Given the description of an element on the screen output the (x, y) to click on. 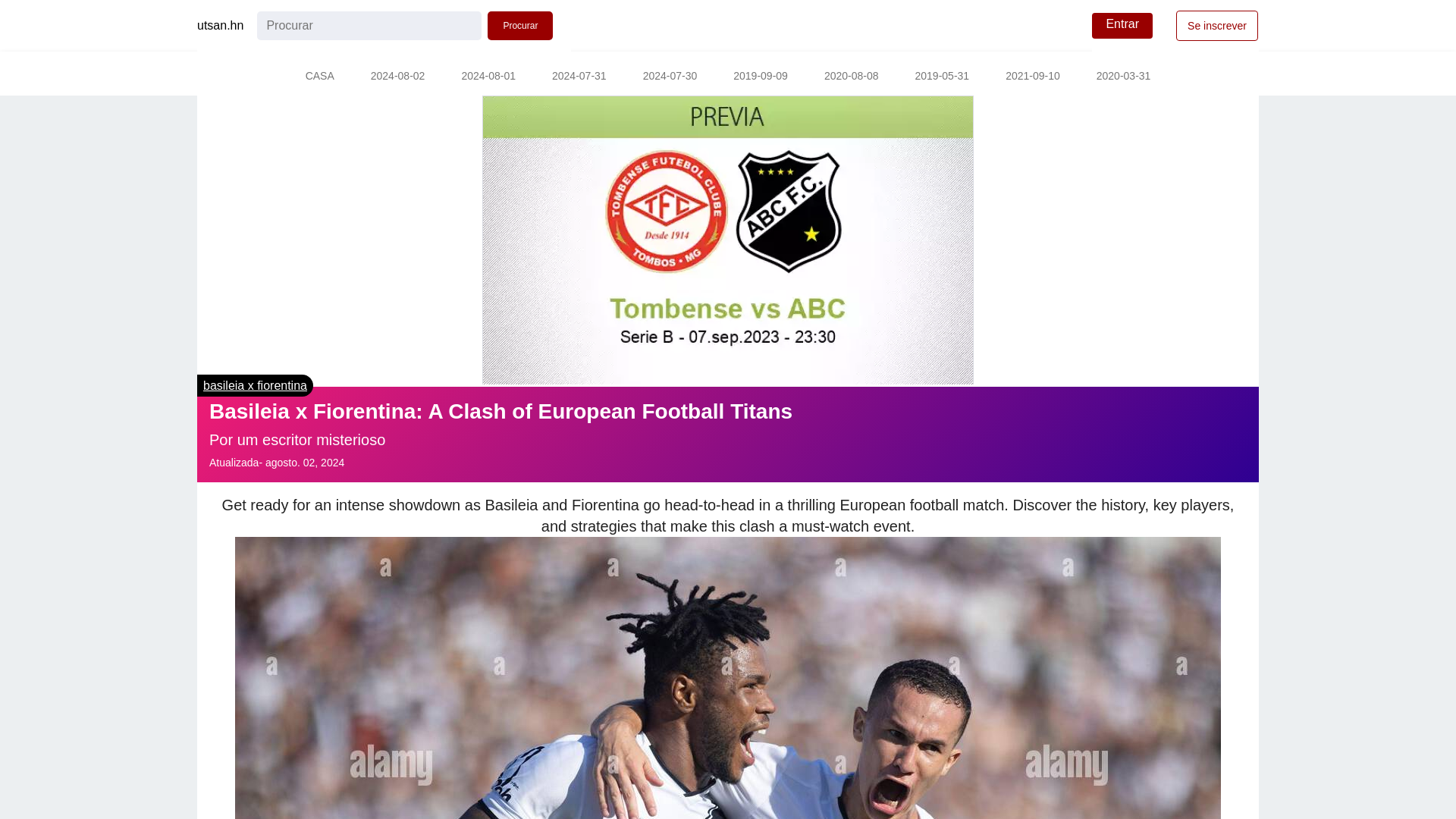
2024-08-02 (398, 76)
Entrar (1122, 25)
2020-03-31 (1123, 76)
2024-07-31 (579, 76)
2019-09-09 (760, 76)
2019-05-31 (941, 76)
2020-08-08 (851, 76)
Procurar (520, 25)
basileia x fiorentina (255, 385)
utsan.hn (219, 25)
CASA (319, 76)
2024-07-30 (670, 76)
2024-08-01 (488, 76)
2021-09-10 (1032, 76)
